Given the description of an element on the screen output the (x, y) to click on. 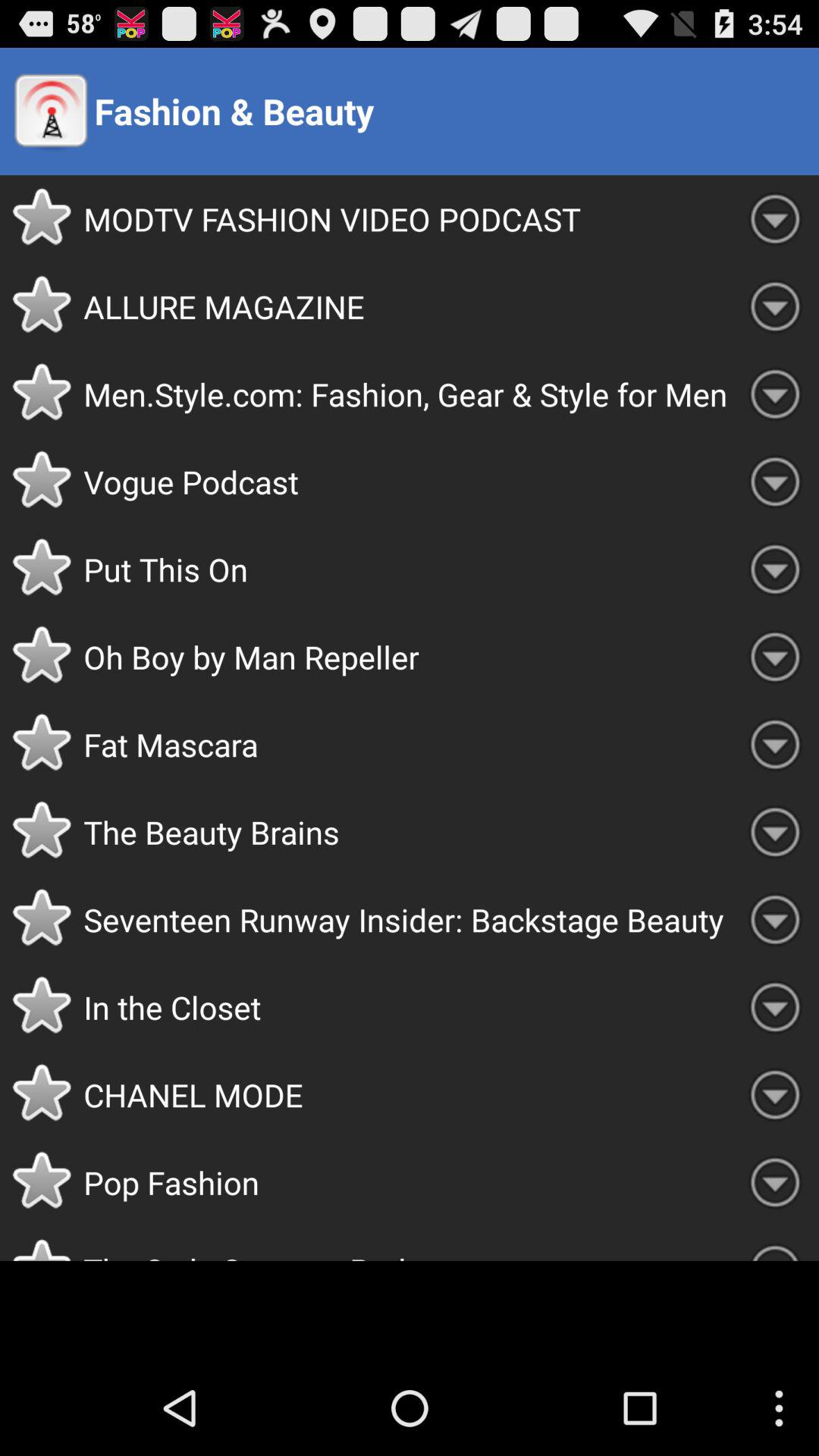
press allure magazine (407, 306)
